Given the description of an element on the screen output the (x, y) to click on. 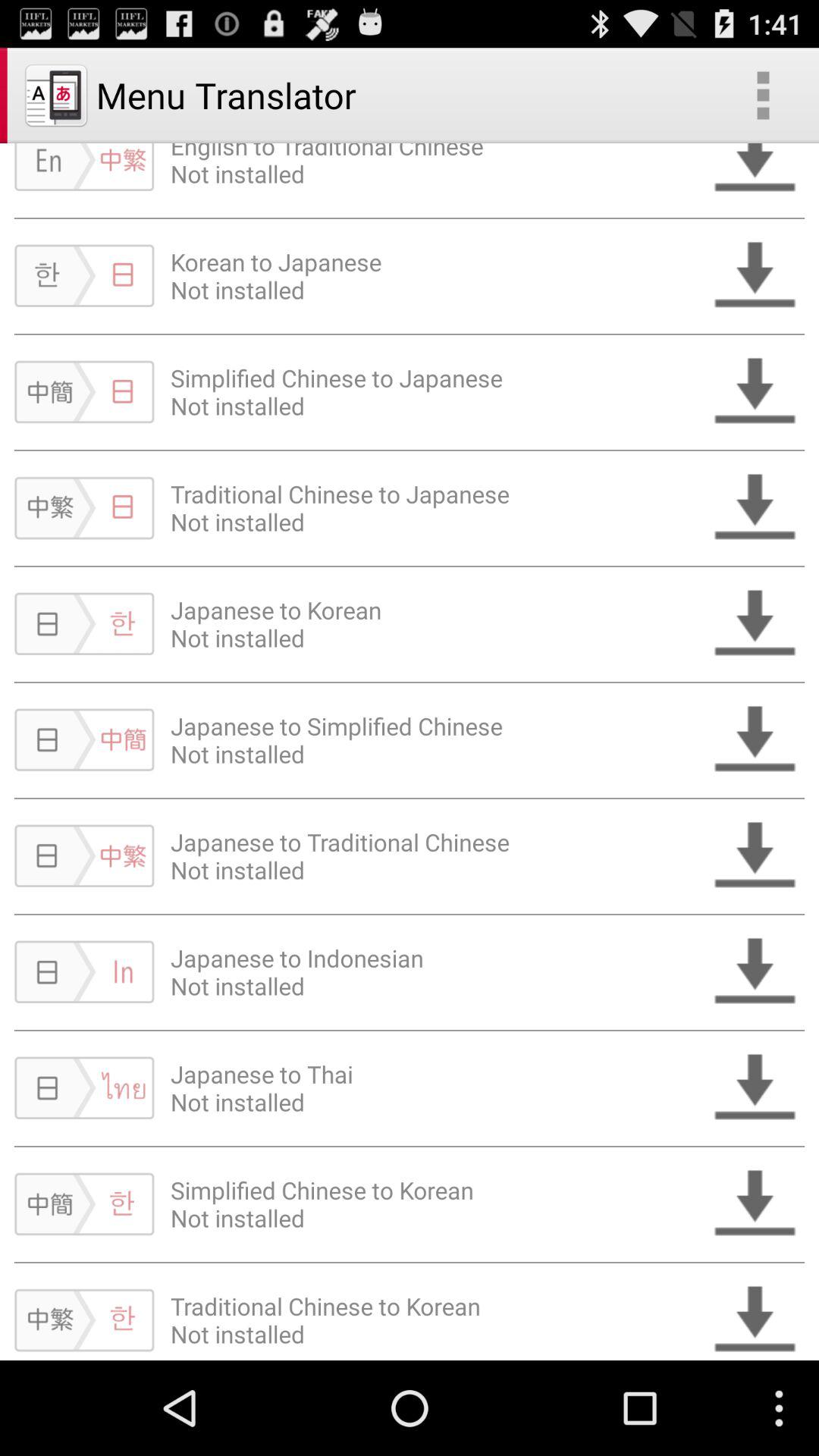
select the item next to the english to traditional app (763, 95)
